Given the description of an element on the screen output the (x, y) to click on. 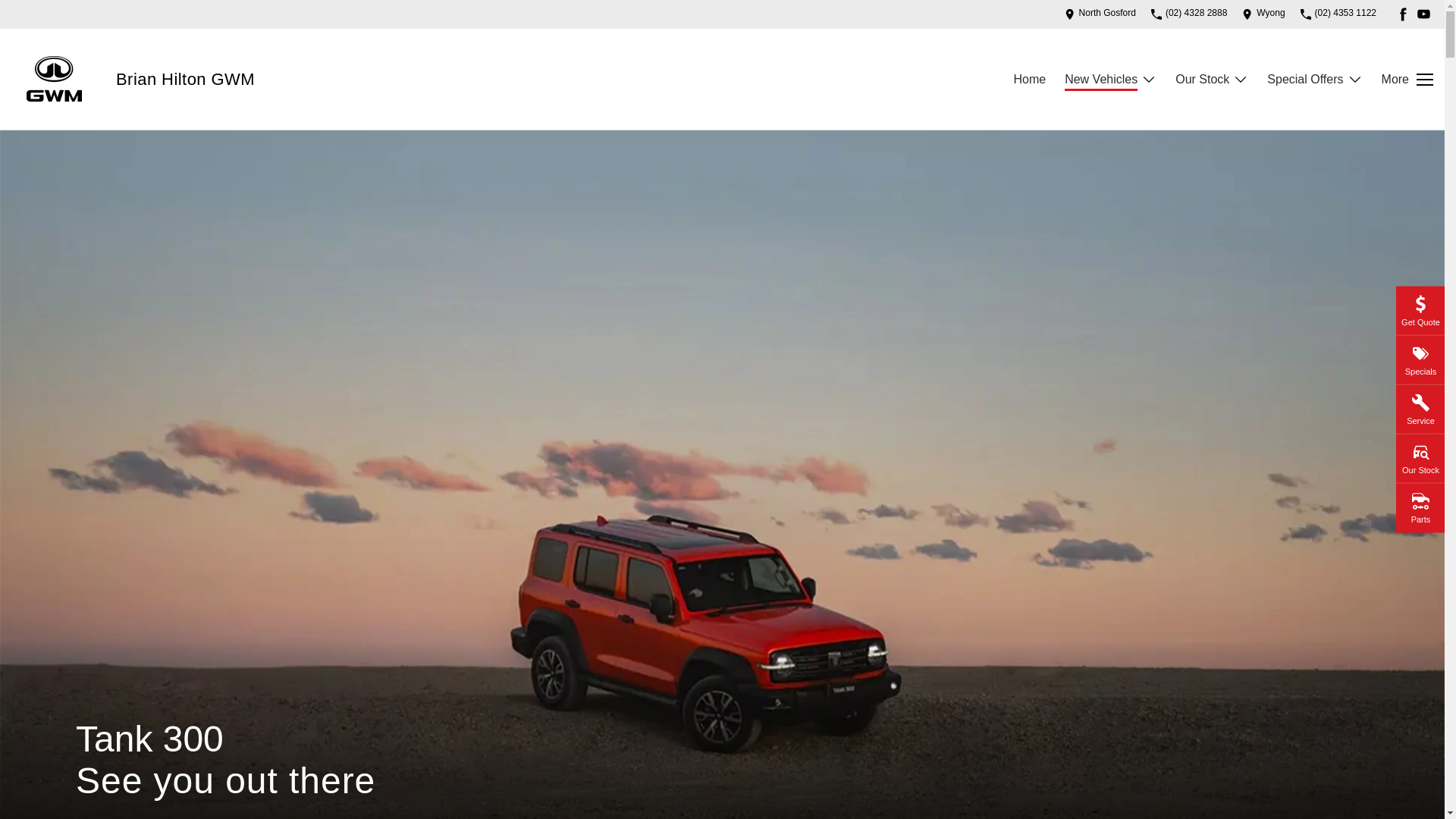
New Vehicles (1110, 79)
North Gosford (1099, 13)
Wyong (1262, 13)
Special Offers (1313, 79)
Our Stock (1210, 79)
Home (1029, 79)
Brian Hilton GWM (185, 79)
